Given the description of an element on the screen output the (x, y) to click on. 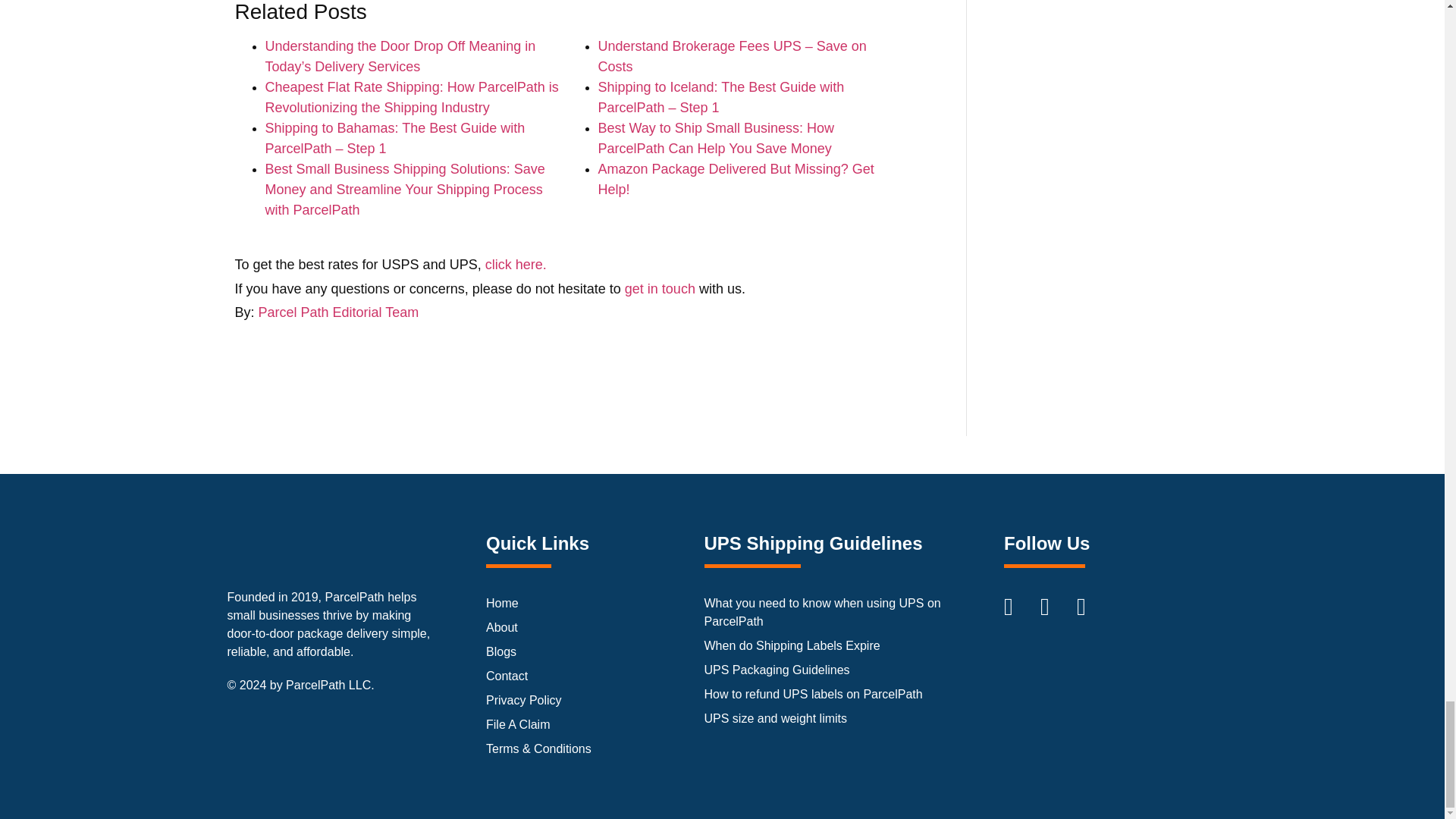
click here. (515, 264)
get in touch (659, 288)
Amazon Package Delivered But Missing? Get Help! (734, 179)
Parcel Path Editorial Team (339, 312)
